Given the description of an element on the screen output the (x, y) to click on. 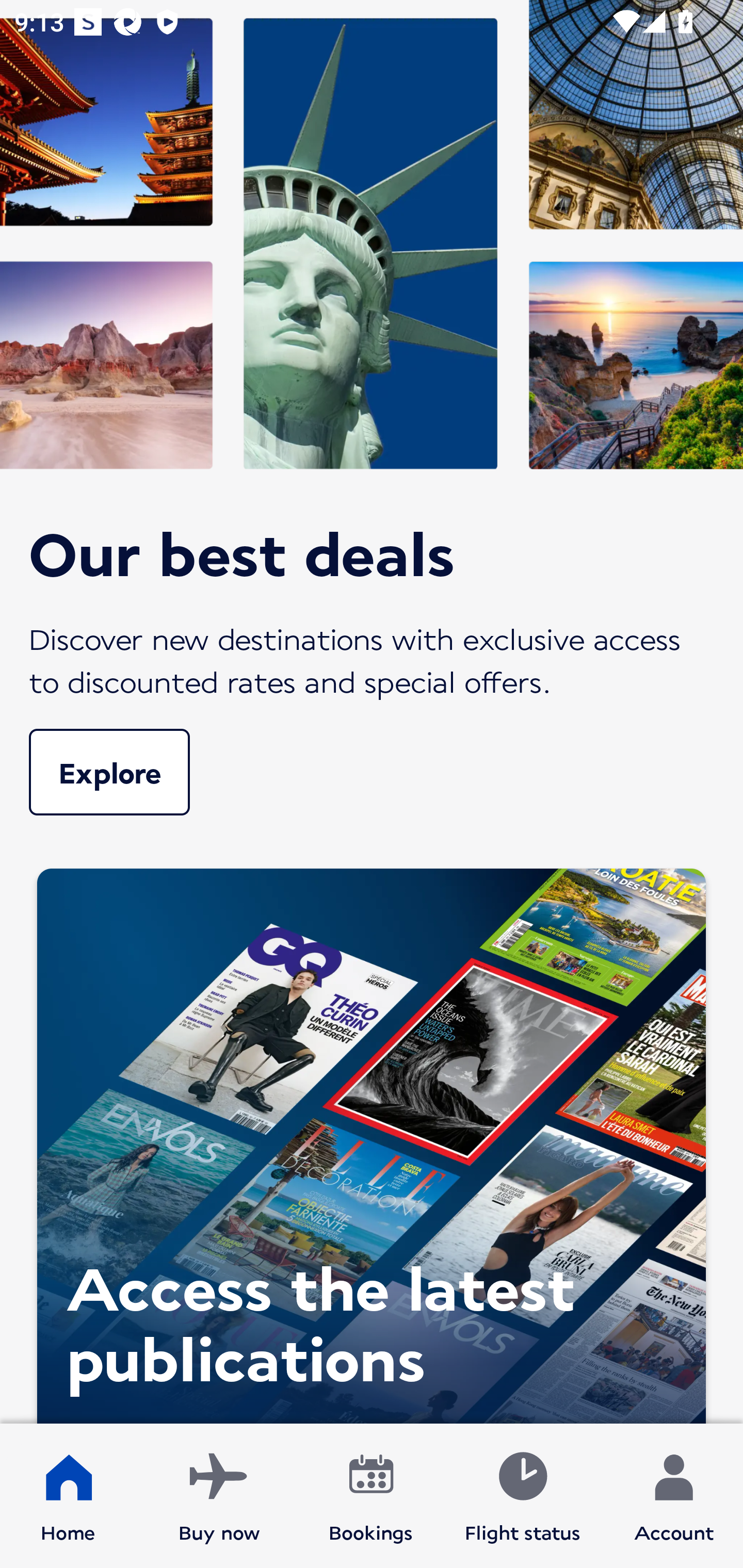
Access the latest publications (371, 1141)
Buy now (219, 1495)
Bookings (370, 1495)
Flight status (522, 1495)
Account (674, 1495)
